Given the description of an element on the screen output the (x, y) to click on. 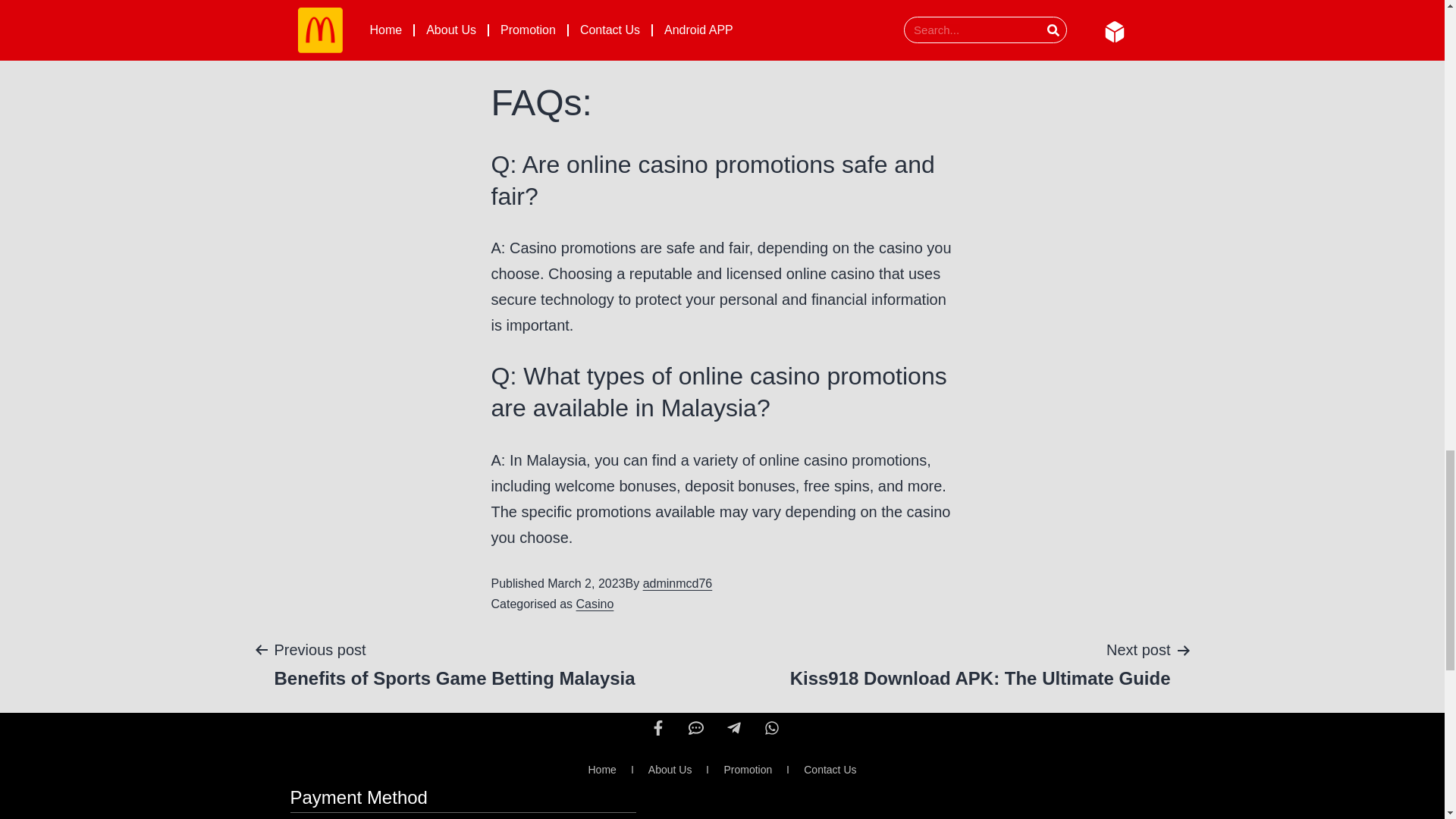
adminmcd76 (678, 583)
Contact Us (829, 769)
Casino (595, 603)
Promotion (747, 769)
Home (601, 769)
About Us (980, 663)
